Given the description of an element on the screen output the (x, y) to click on. 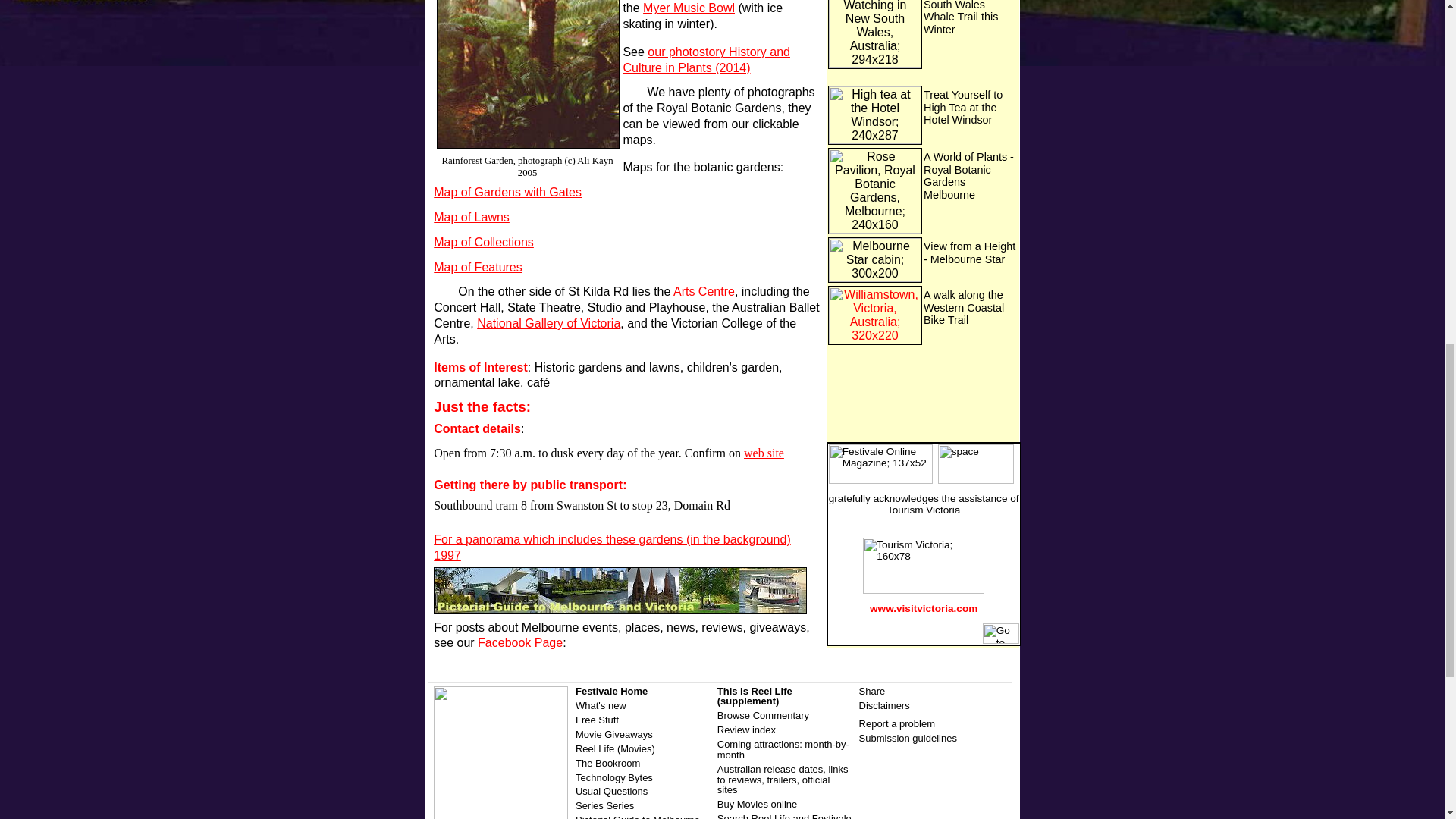
National Gallery of Victoria (548, 323)
State Theatre (543, 307)
Victorian College of the Arts (614, 330)
Arts Centre (703, 291)
Studio (607, 307)
Myer Music Bowl (689, 7)
Map of Collections (483, 241)
Map of Lawns (471, 216)
Concert Hall (466, 307)
Playhouse (677, 307)
